Given the description of an element on the screen output the (x, y) to click on. 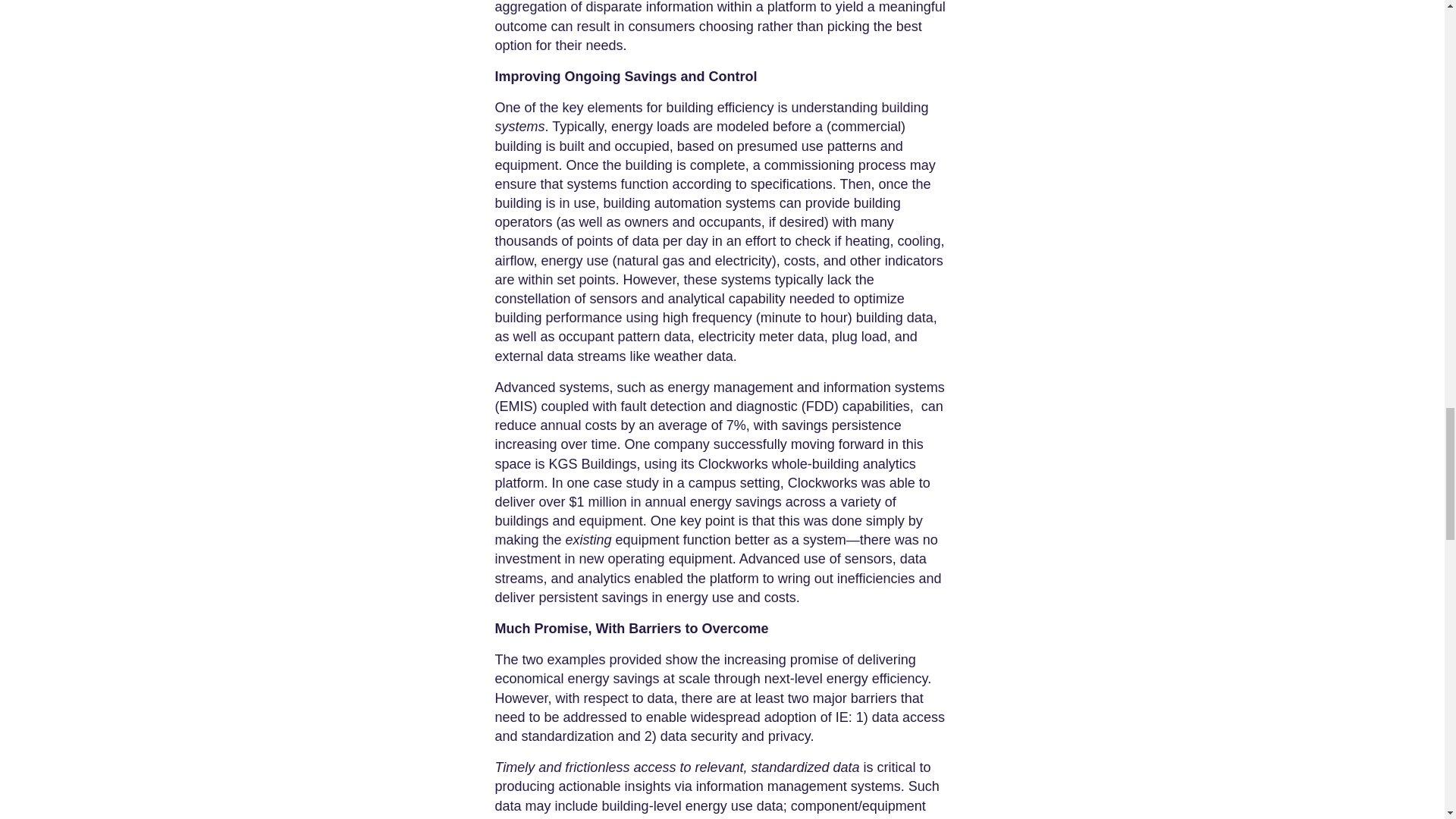
choosing rather than picking (782, 26)
KGS Buildings (590, 463)
next-level energy efficiency (843, 678)
Timely and frictionless (561, 767)
one case study (613, 482)
